Given the description of an element on the screen output the (x, y) to click on. 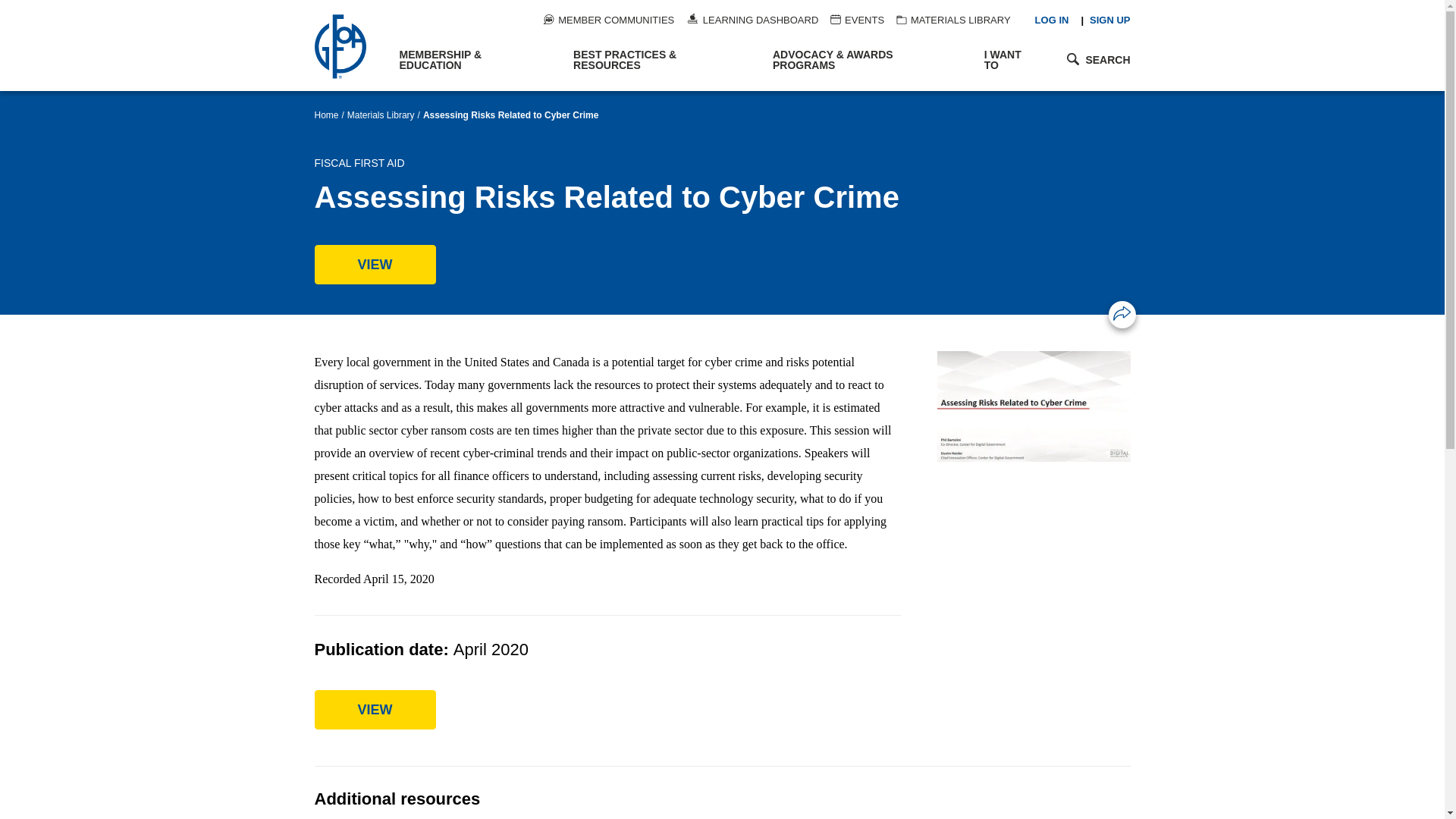
LEARNING DASHBOARD (751, 19)
LOG IN (1051, 19)
MATERIALS LIBRARY (953, 19)
MEMBER COMMUNITIES (608, 19)
Assessing Risks Related to Cyber Crime (374, 709)
Home (349, 45)
SIGN UP (1109, 19)
Assessing Risks Related to Cyber Crime (374, 264)
Share this page (1122, 313)
EVENTS (856, 19)
